Given the description of an element on the screen output the (x, y) to click on. 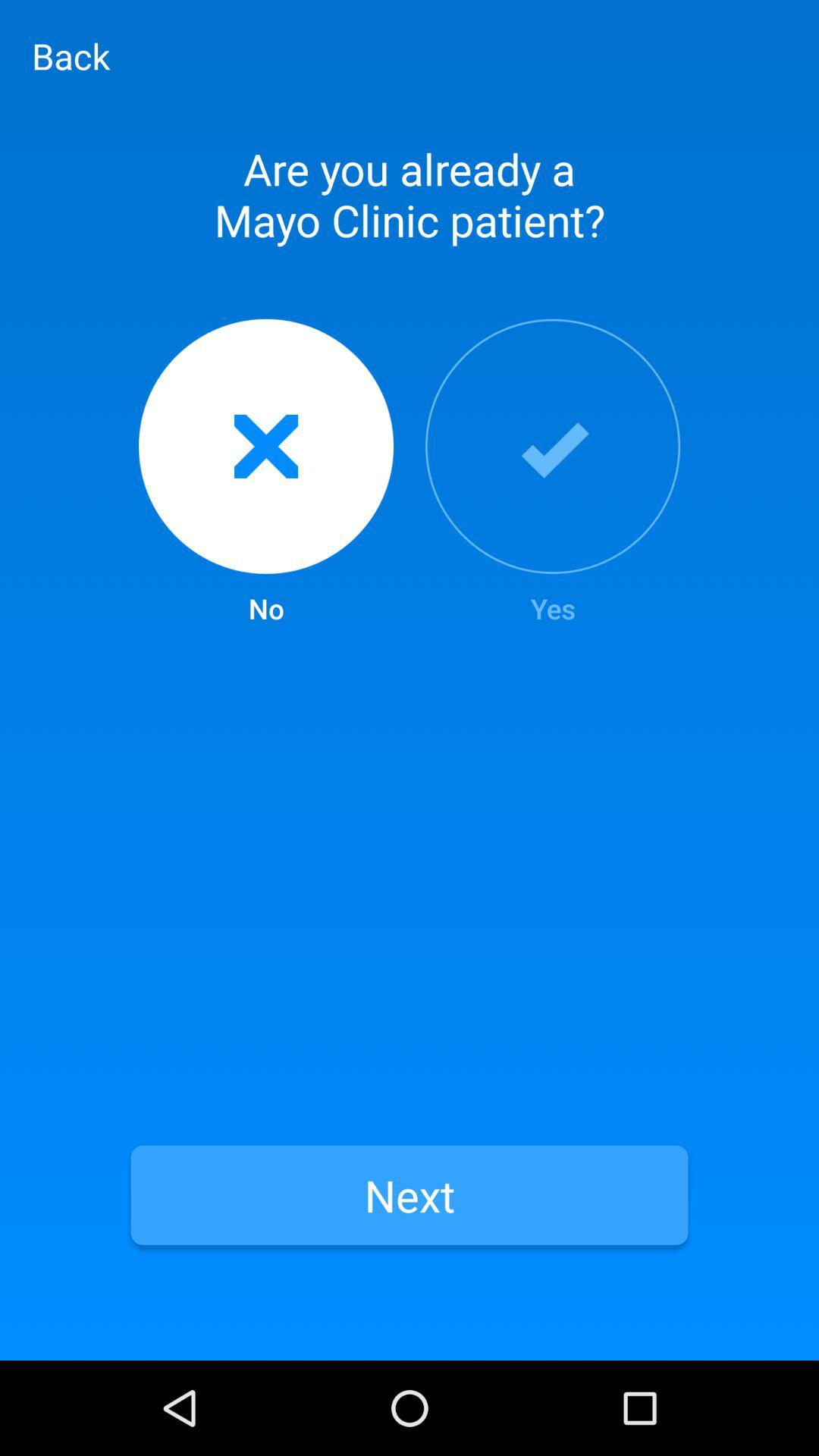
tap item above are you already item (70, 55)
